Given the description of an element on the screen output the (x, y) to click on. 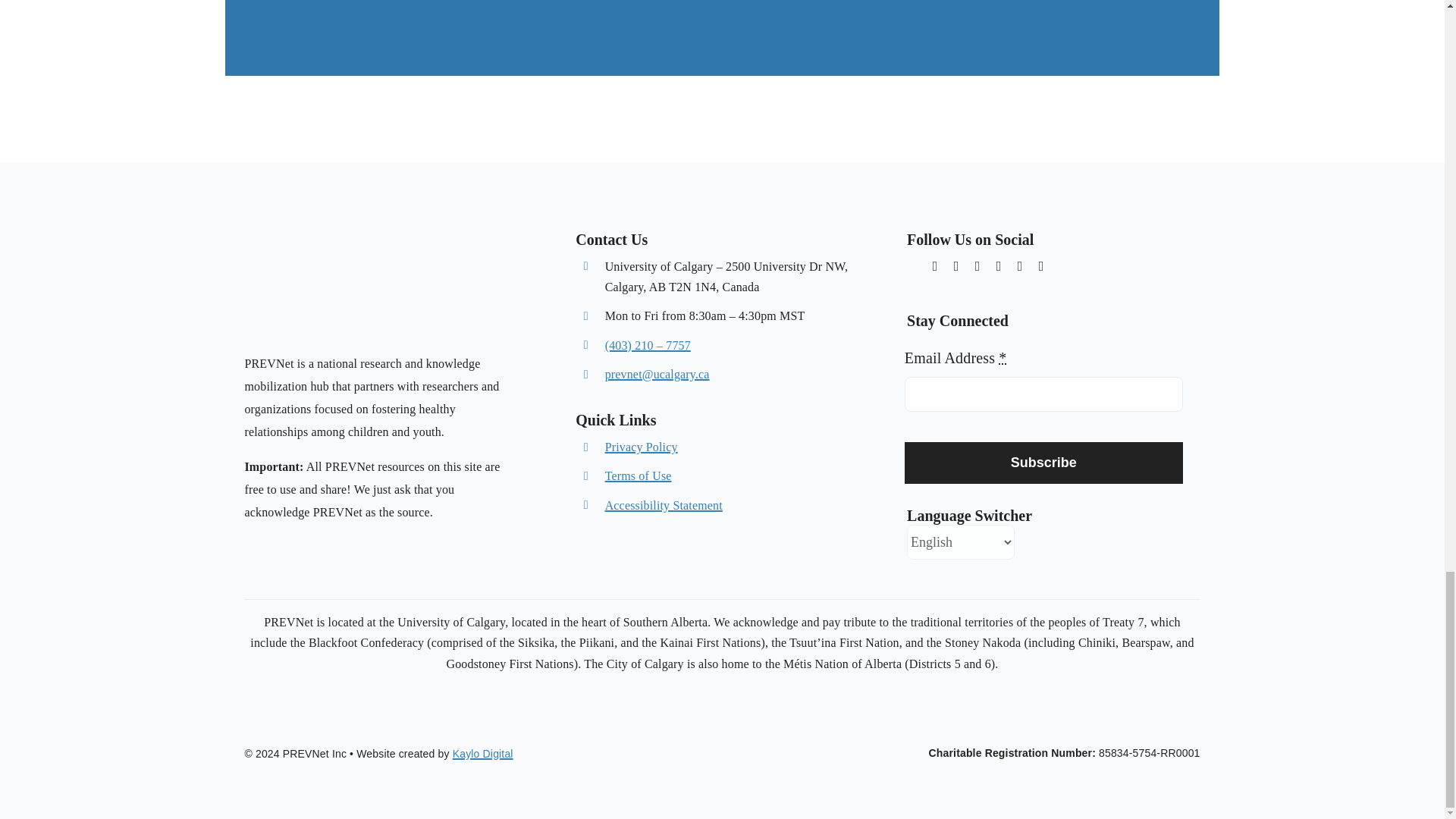
LinkedIn (1040, 265)
Pinterest (977, 265)
Instagram (955, 265)
X (935, 265)
Threads (913, 264)
YouTube (1019, 265)
UCalgary Logo (301, 323)
Facebook (998, 265)
